Given the description of an element on the screen output the (x, y) to click on. 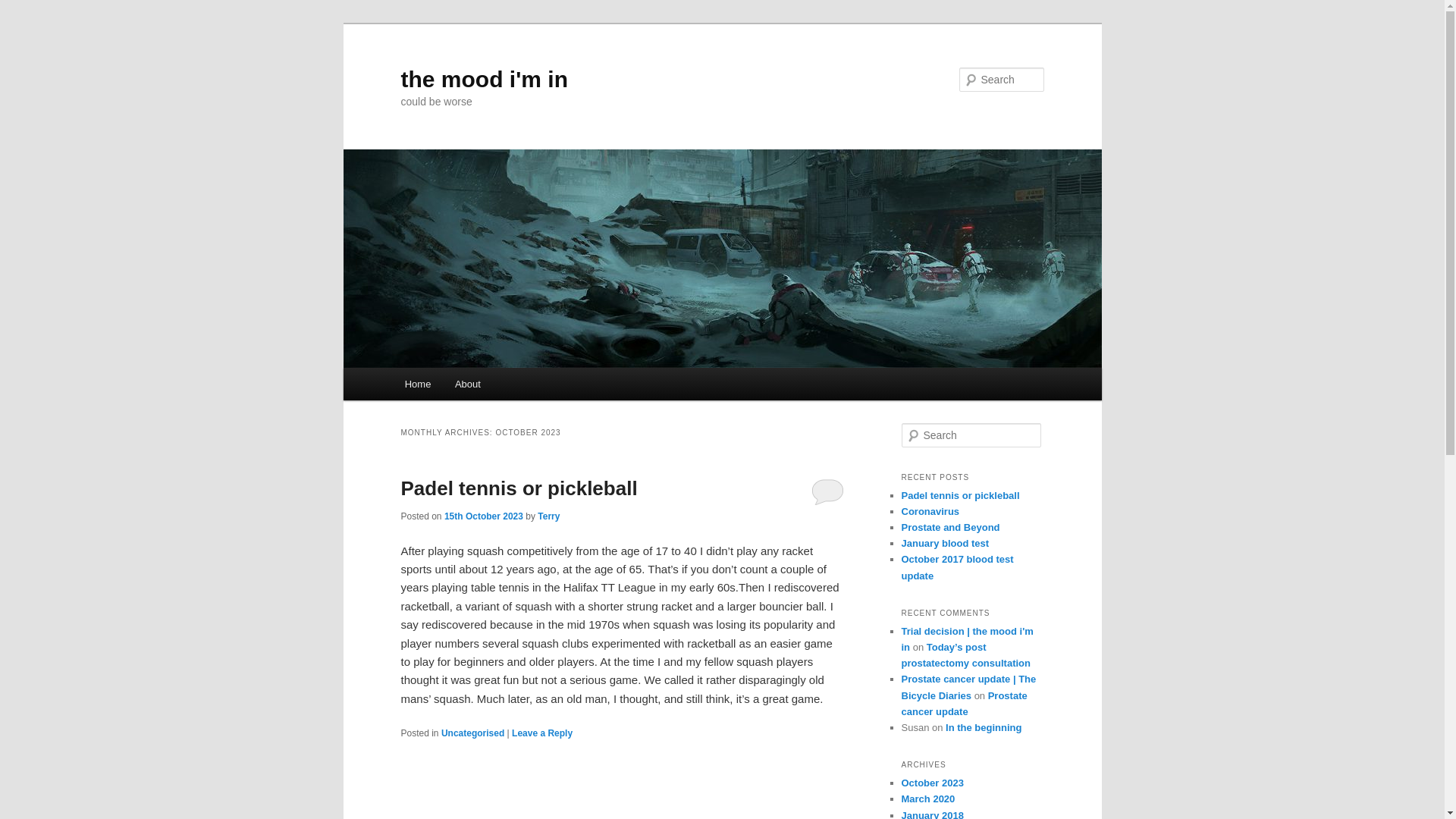
January blood test (944, 542)
Terry (548, 516)
Prostate cancer update (963, 703)
the mood i'm in (483, 78)
In the beginning (983, 727)
October 2017 blood test update (957, 566)
15th October 2023 (483, 516)
Leave a Reply (542, 733)
Search (21, 11)
Coronavirus (930, 511)
